Given the description of an element on the screen output the (x, y) to click on. 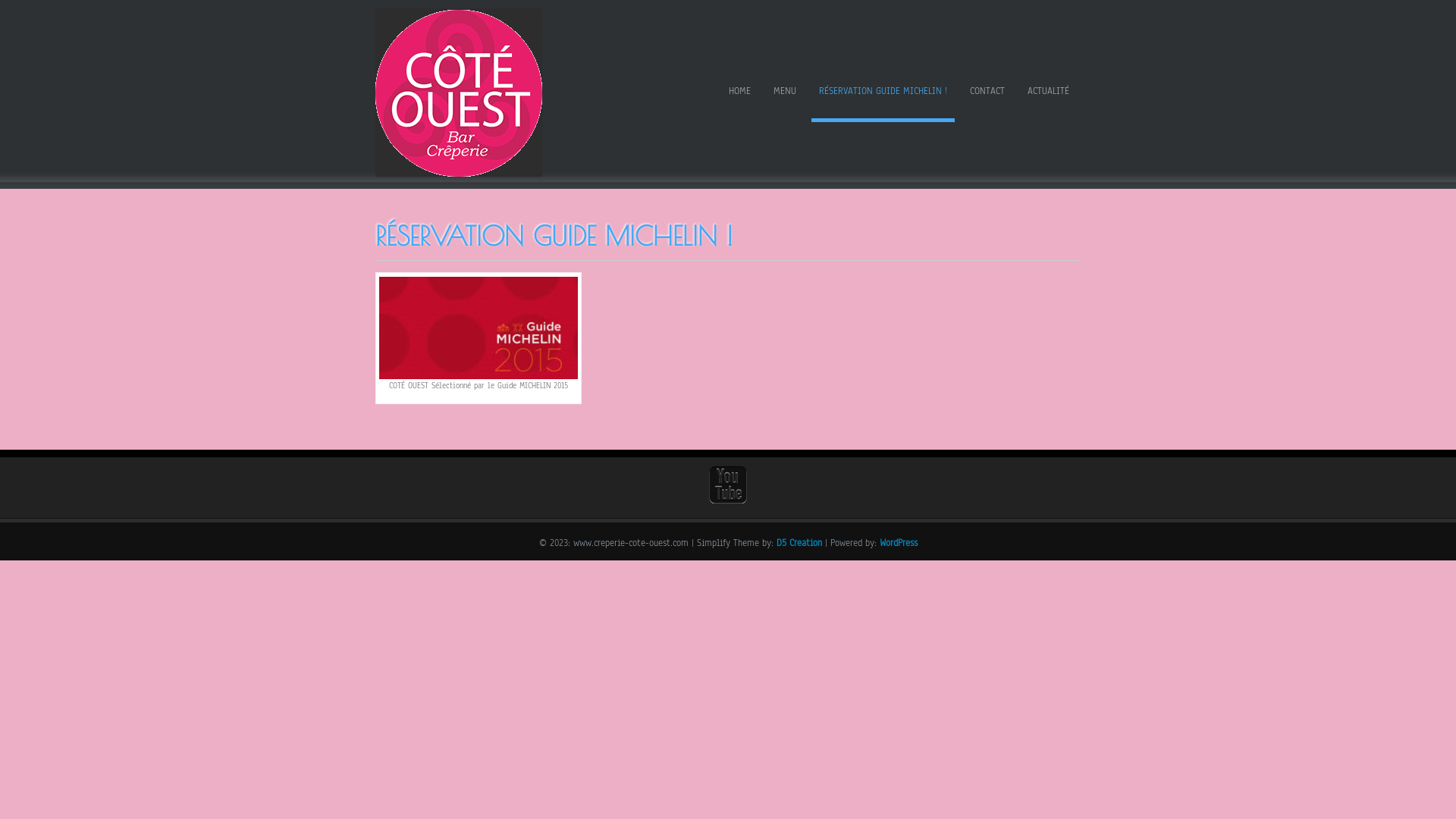
D5 Creation Element type: text (799, 542)
CONTACT Element type: text (987, 93)
GUIDE MICHELIN Element type: hover (478, 327)
WordPress Element type: text (898, 542)
HOME Element type: text (739, 93)
MENU Element type: text (784, 93)
